Given the description of an element on the screen output the (x, y) to click on. 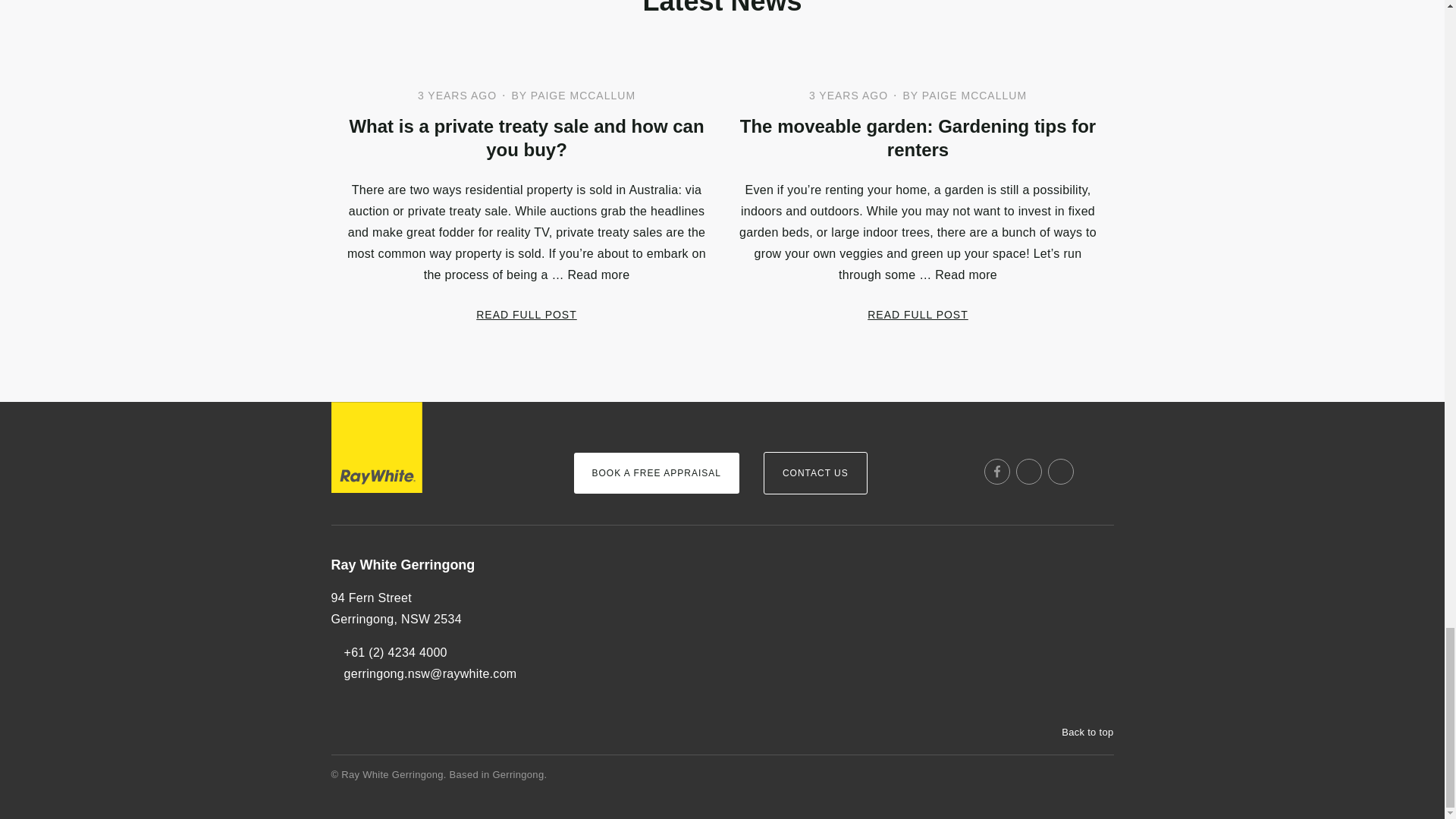
Instagram (1029, 471)
Facebook (997, 471)
Youtube (1061, 471)
The moveable garden: Gardening tips for renters (916, 137)
READ FULL POST (526, 314)
Ray White (376, 447)
What is a private treaty sale and how can you buy? (526, 137)
Back to top (1079, 732)
BOOK A FREE APPRAISAL (655, 472)
CONTACT US (814, 473)
Ray White Gerringong (439, 565)
READ FULL POST (917, 314)
